Given the description of an element on the screen output the (x, y) to click on. 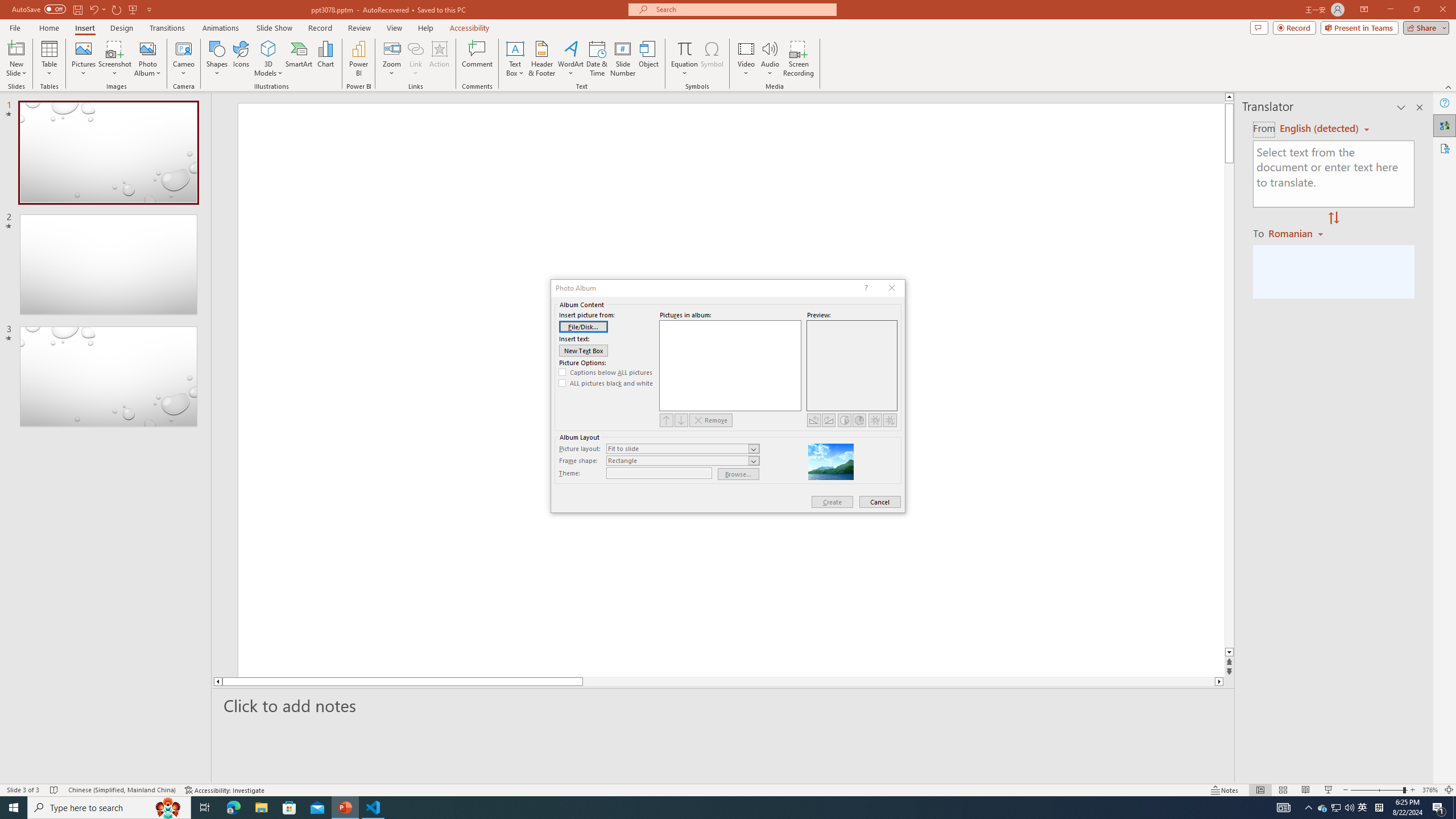
Captions below ALL pictures (606, 371)
More Brightness (874, 419)
WordArt (570, 58)
Picture layout (682, 448)
Czech (detected) (1319, 128)
